Given the description of an element on the screen output the (x, y) to click on. 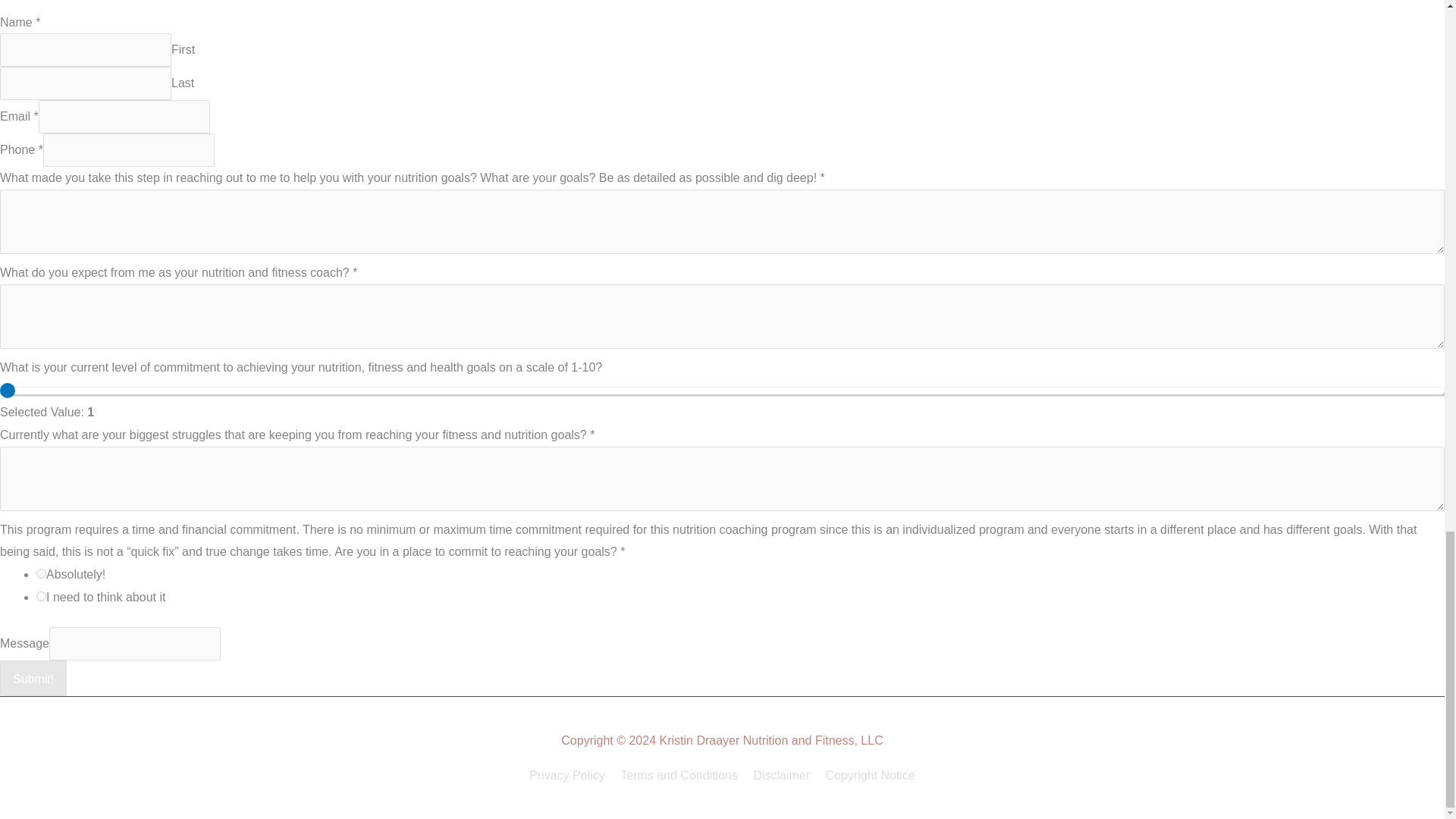
Terms and Conditions (679, 775)
I need to think about it (41, 596)
Absolutely!  (41, 573)
Disclaimer (780, 775)
Copyright Notice (867, 775)
Submit! (33, 678)
Privacy Policy (570, 775)
